Given the description of an element on the screen output the (x, y) to click on. 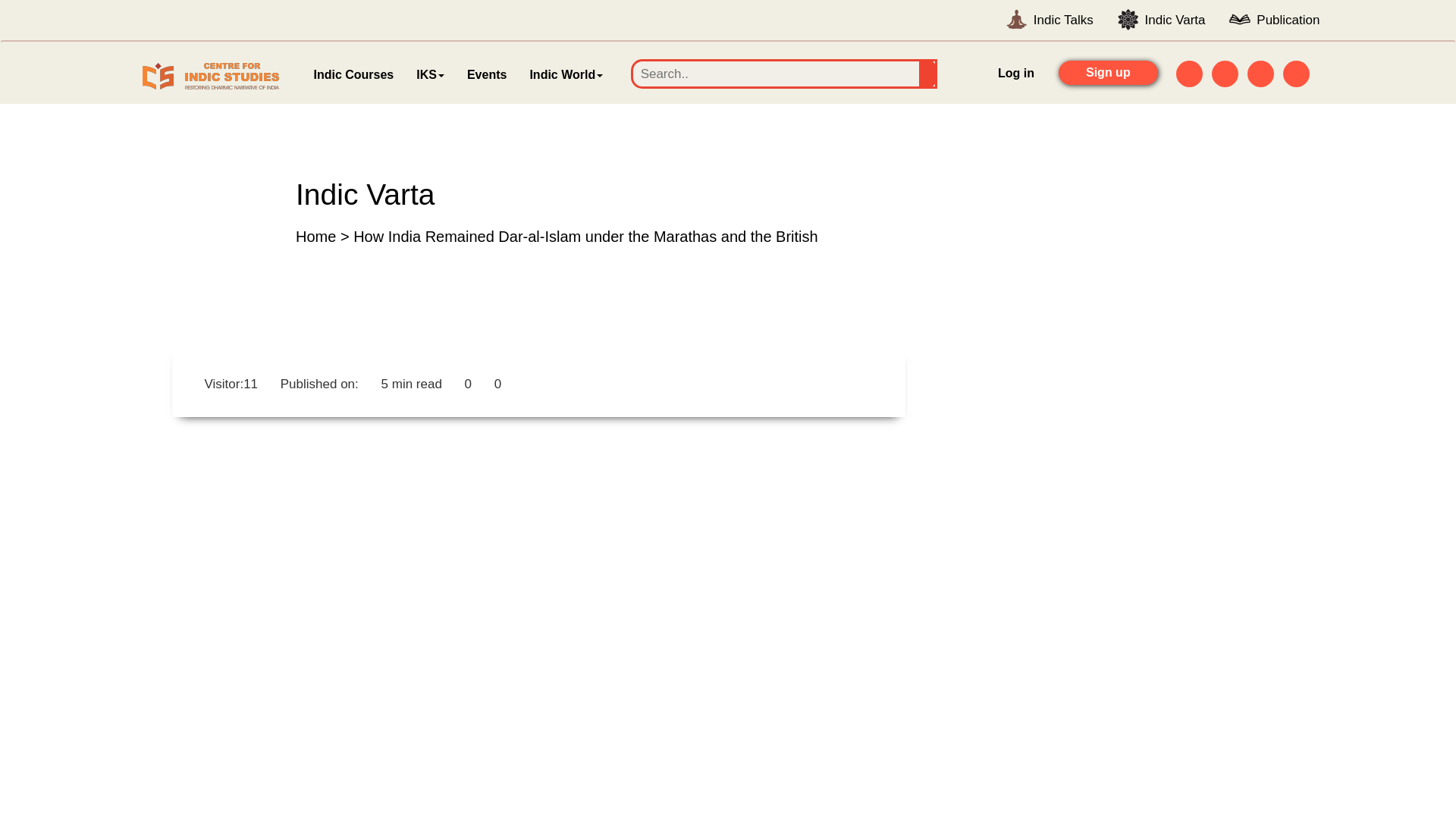
IKS (429, 75)
Events (486, 75)
Sign up (1108, 72)
Publication (1287, 20)
Indic Courses (352, 75)
Indic World (566, 75)
Indic Talks (1063, 20)
 Log in (1014, 73)
Indic Varta (1174, 20)
